Given the description of an element on the screen output the (x, y) to click on. 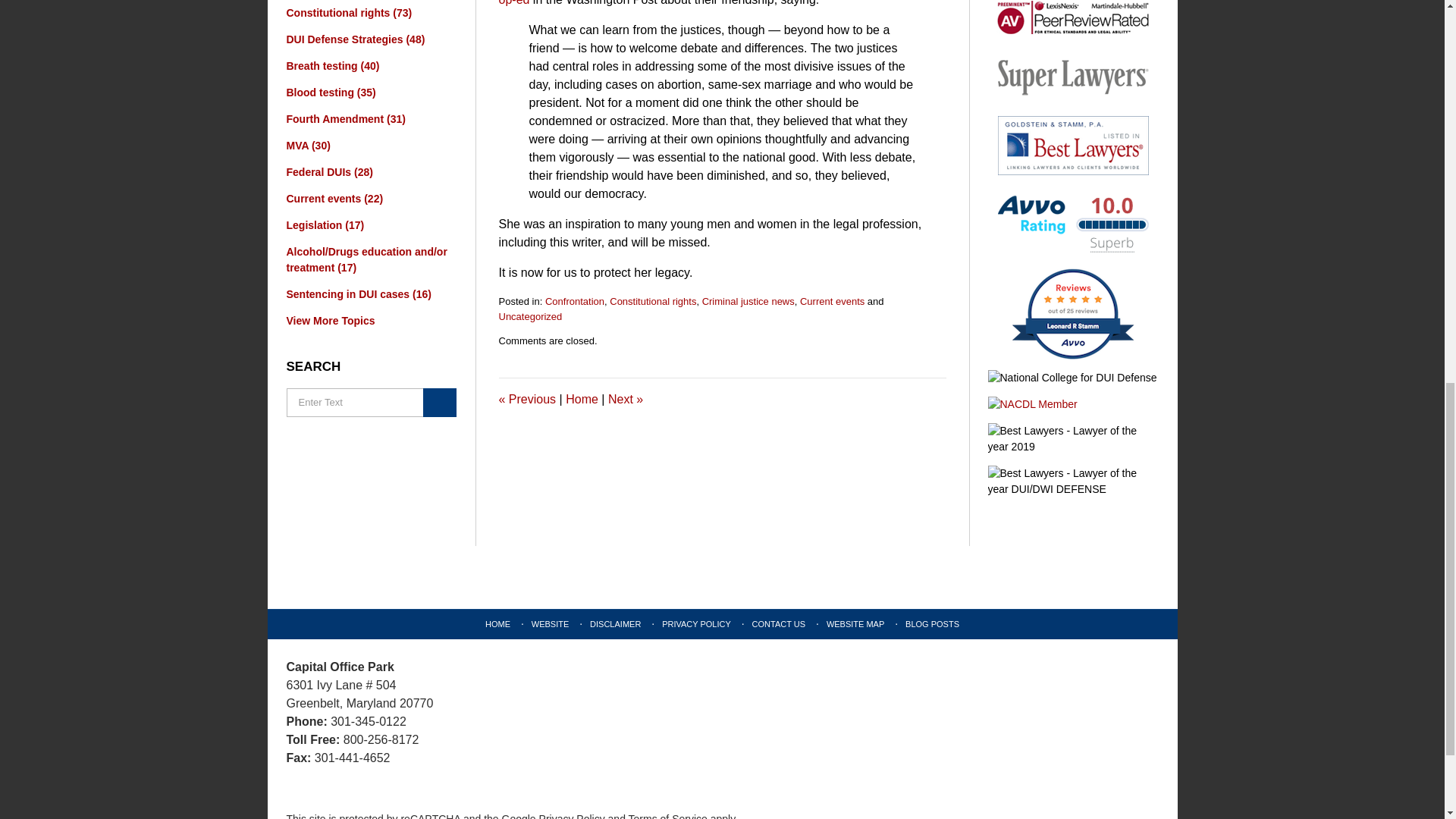
Home (582, 399)
View all posts in Constitutional rights (652, 301)
Confrontation (574, 301)
Criminal justice news (747, 301)
Constitutional rights (652, 301)
View all posts in Current events (831, 301)
View all posts in Confrontation (574, 301)
op-ed (514, 2)
November 11, 2020 Veterans Day (625, 399)
